Given the description of an element on the screen output the (x, y) to click on. 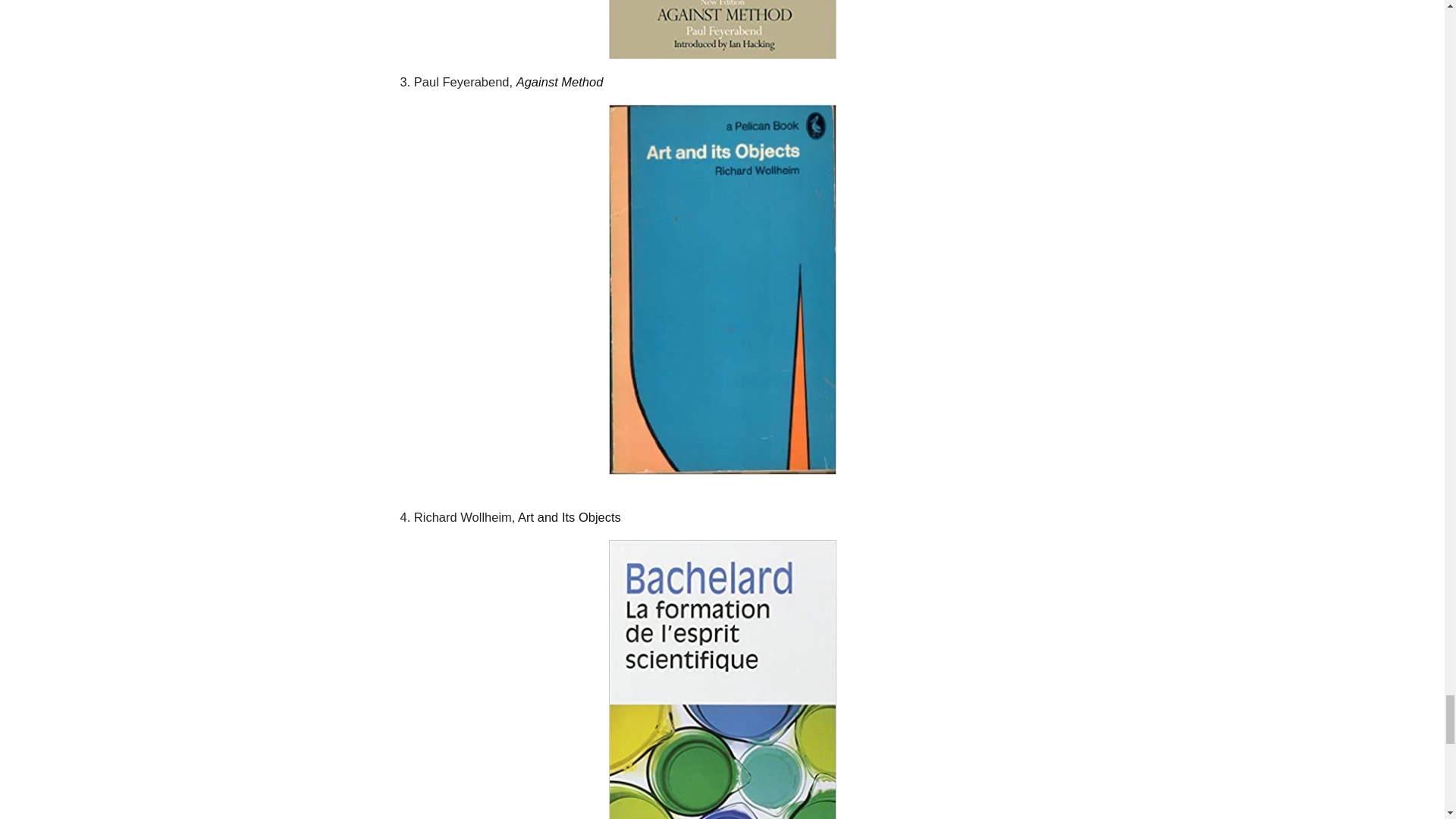
Art and Its Objects (569, 517)
Against Method (560, 81)
